Given the description of an element on the screen output the (x, y) to click on. 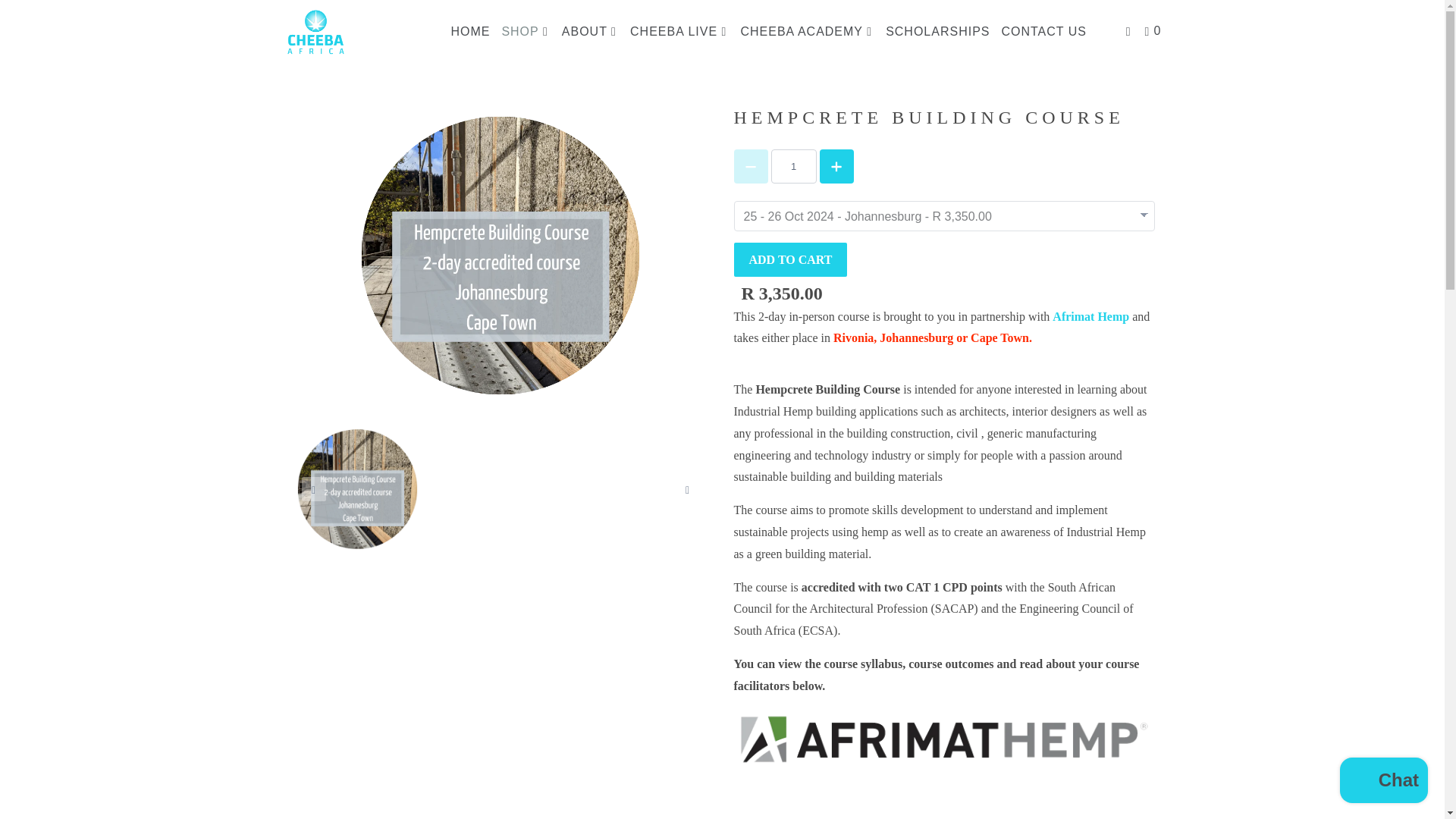
1 (792, 166)
vimeo-video (499, 683)
Hempcrete Building Course in partnership with Afrimat Hemp (1092, 316)
